Given the description of an element on the screen output the (x, y) to click on. 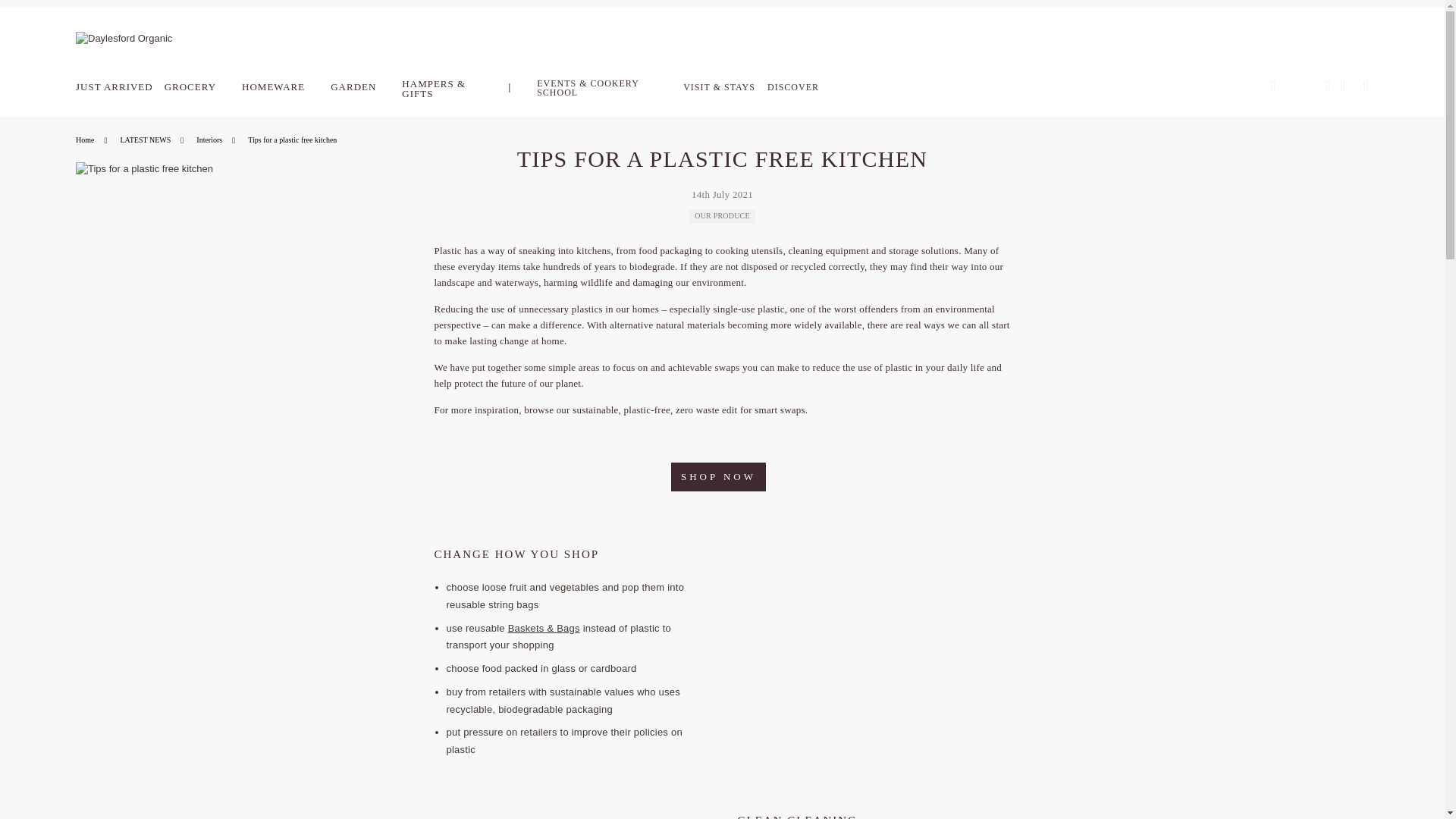
GROCERY (197, 86)
Just Arrived (121, 86)
Daylesford Organic (171, 45)
Grocery (197, 86)
JUST ARRIVED (121, 86)
Daylesford Organic (171, 38)
